Given the description of an element on the screen output the (x, y) to click on. 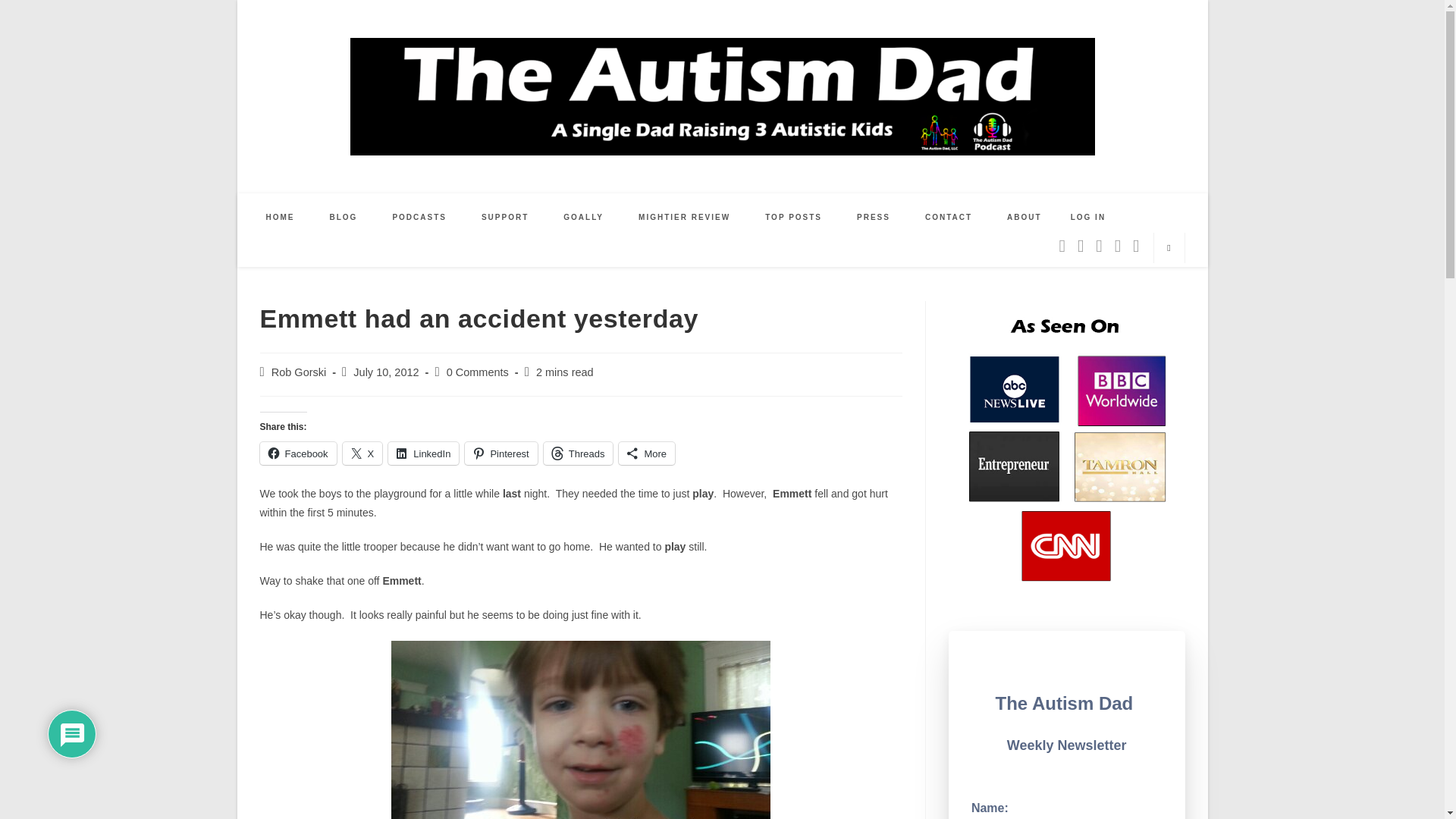
PODCASTS (419, 217)
Click to share on X (362, 453)
PRESS (873, 217)
Facebook (297, 453)
Rob Gorski (298, 372)
Click to share on Threads (577, 453)
HOME (280, 217)
0 Comments (477, 372)
CONTACT (948, 217)
GOALLY (583, 217)
Click to share on LinkedIn (423, 453)
TOP POSTS (794, 217)
ABOUT (1024, 217)
SUPPORT (505, 217)
